Given the description of an element on the screen output the (x, y) to click on. 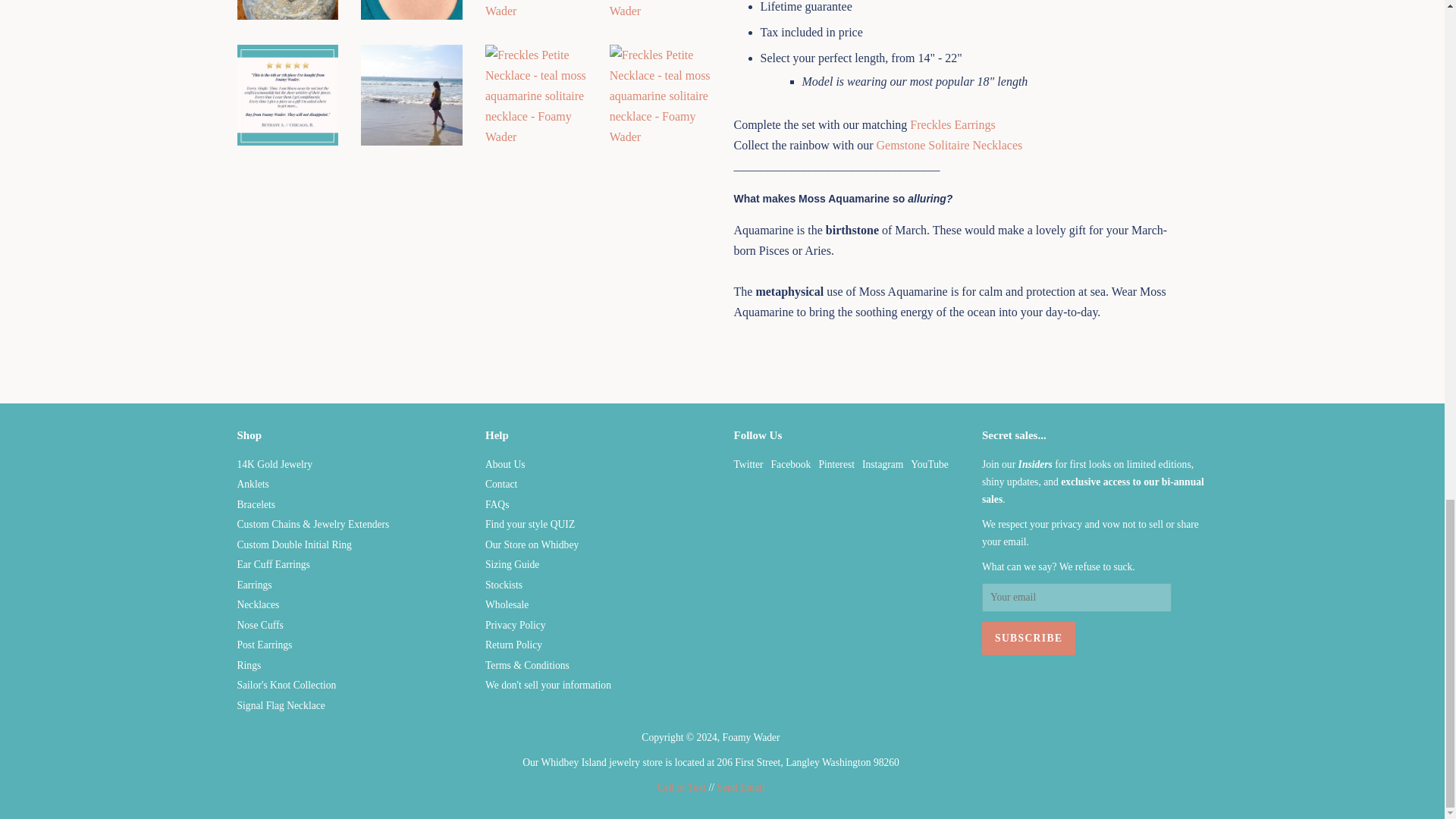
Foamy Wader on Instagram (881, 464)
Foamy Wader on Pinterest (836, 464)
Foamy Wader on Twitter (747, 464)
Foamy Wader on Facebook (790, 464)
Subscribe (1028, 638)
Foamy Wader on YouTube (930, 464)
